Given the description of an element on the screen output the (x, y) to click on. 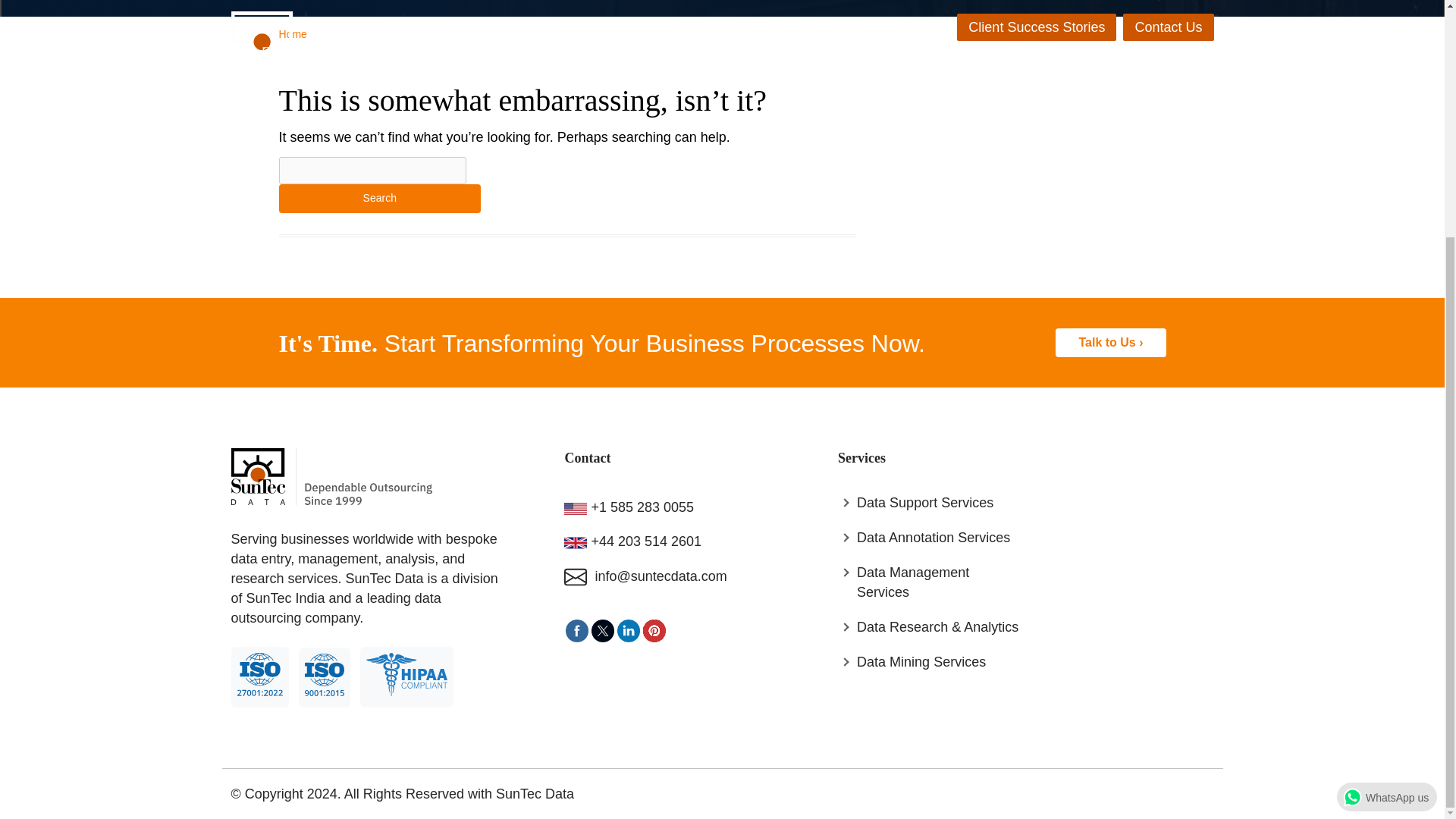
Search (380, 198)
